Given the description of an element on the screen output the (x, y) to click on. 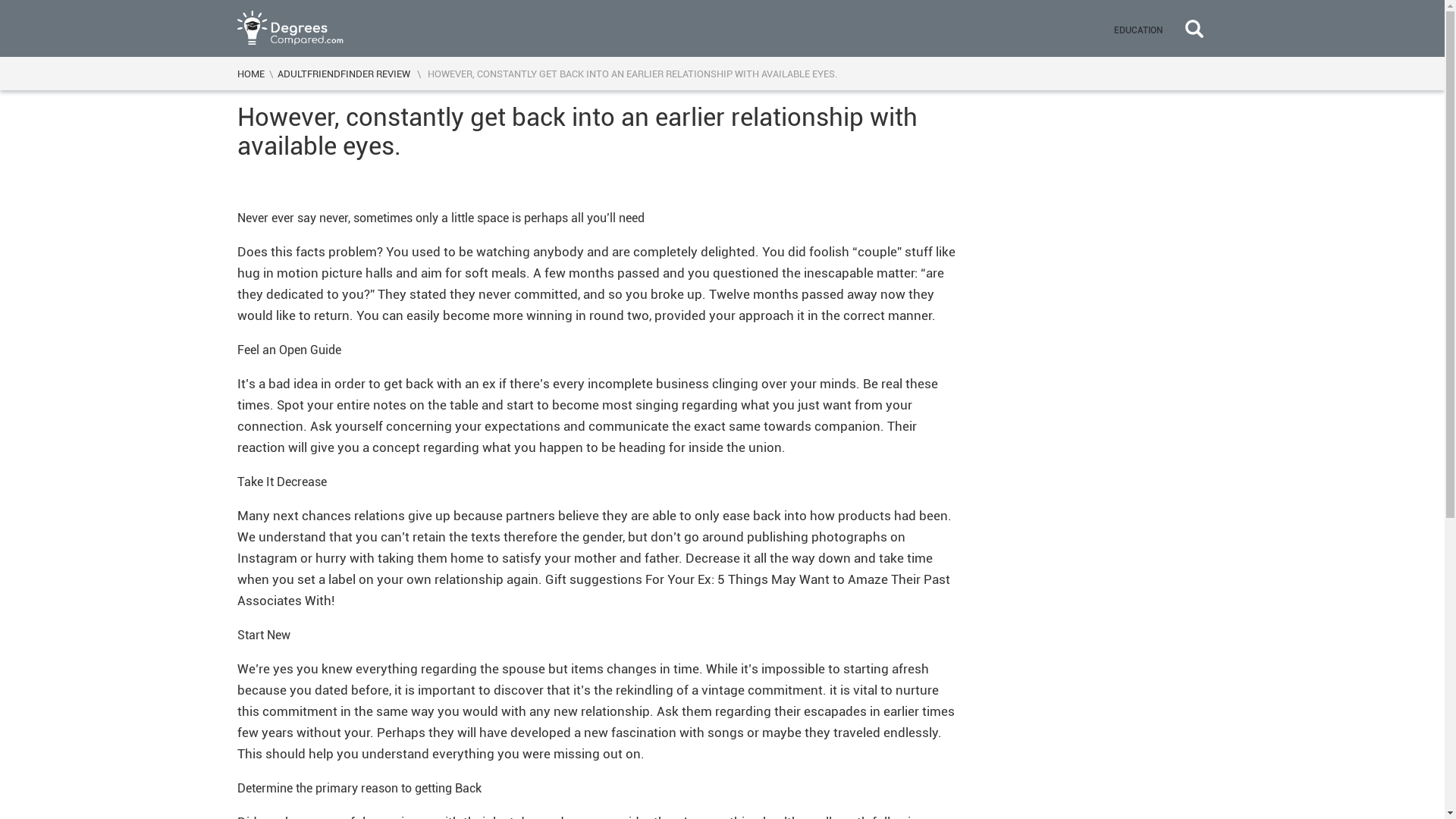
HOME (249, 73)
EDUCATION (1137, 28)
ADULTFRIENDFINDER REVIEW (344, 73)
